Given the description of an element on the screen output the (x, y) to click on. 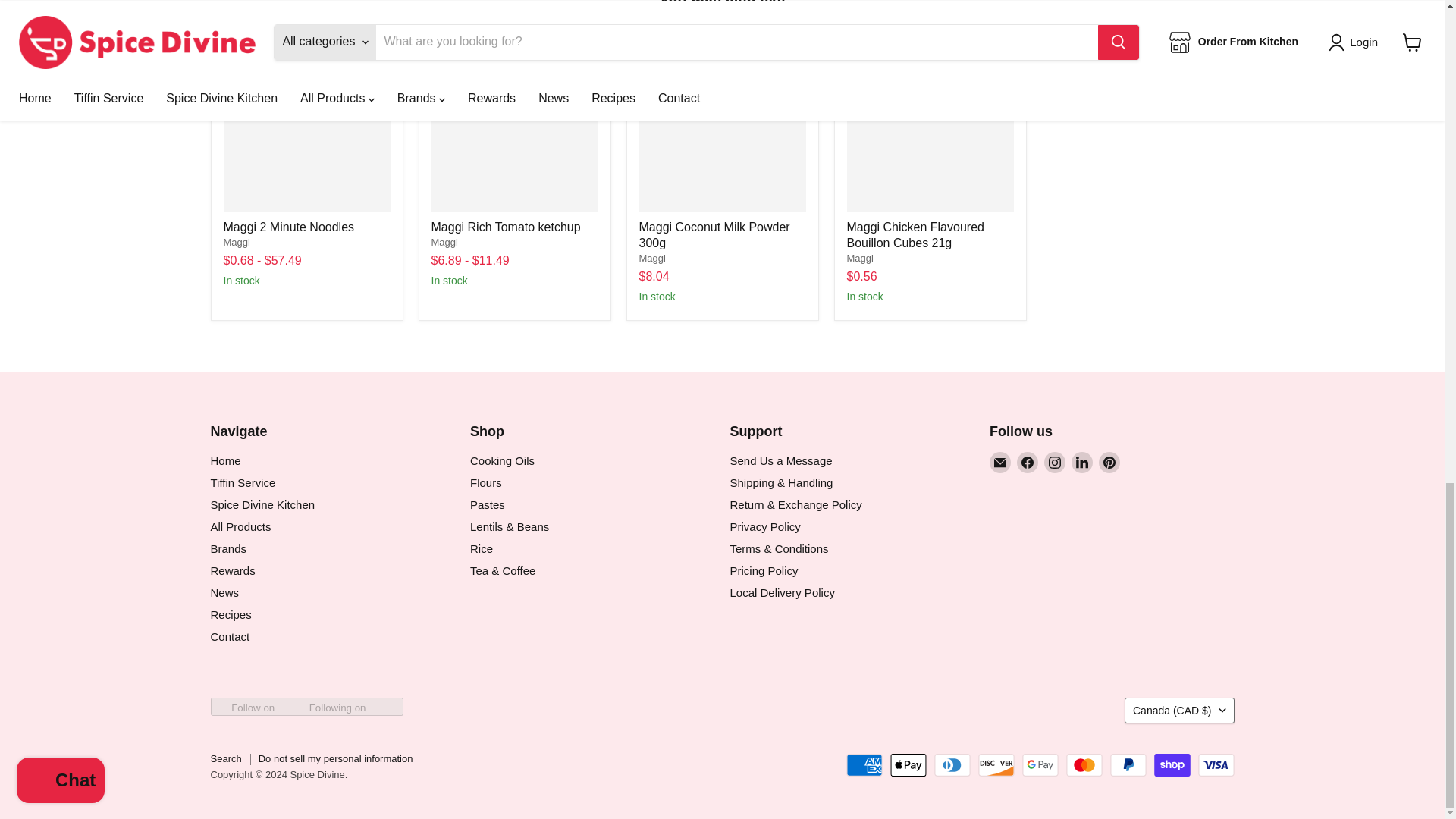
Maggi (235, 242)
Maggi (858, 257)
Maggi (443, 242)
Maggi (652, 257)
